Given the description of an element on the screen output the (x, y) to click on. 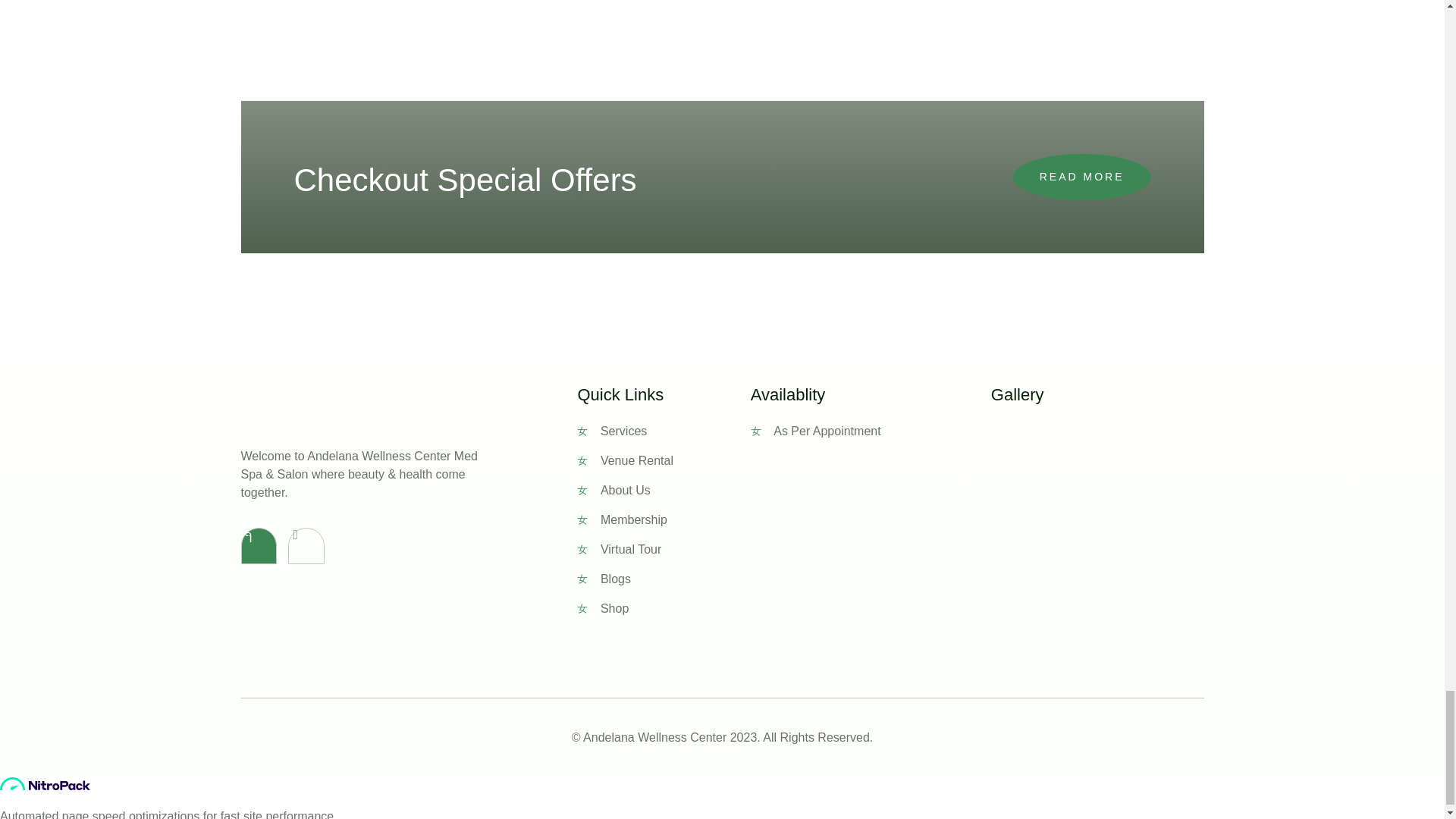
About Us (662, 490)
Venue Rental (662, 461)
Membership (662, 520)
Services (662, 431)
Blogs (662, 579)
READ MORE (1082, 176)
Virtual Tour (662, 549)
